Given the description of an element on the screen output the (x, y) to click on. 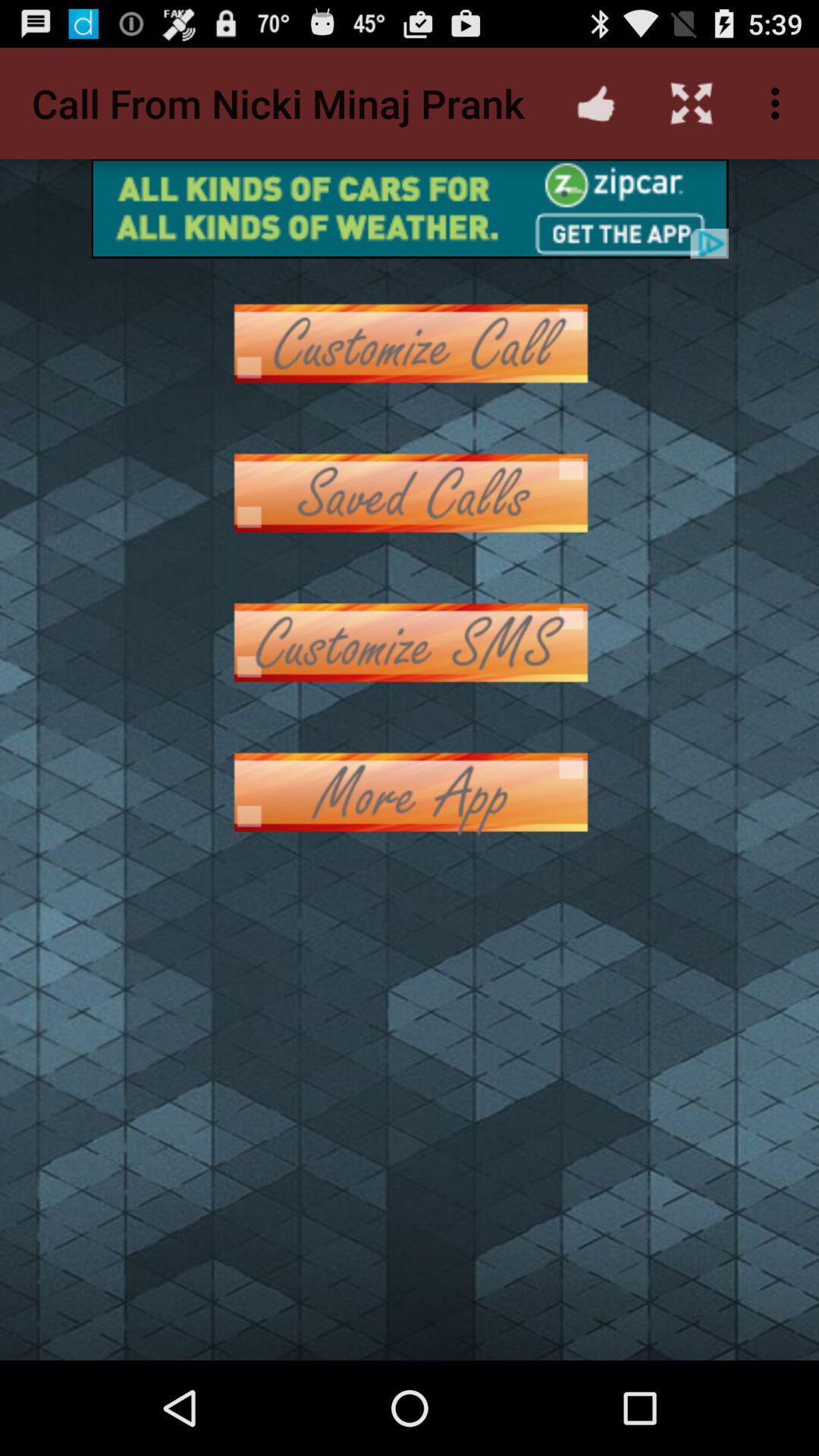
select customize call option (409, 343)
